Given the description of an element on the screen output the (x, y) to click on. 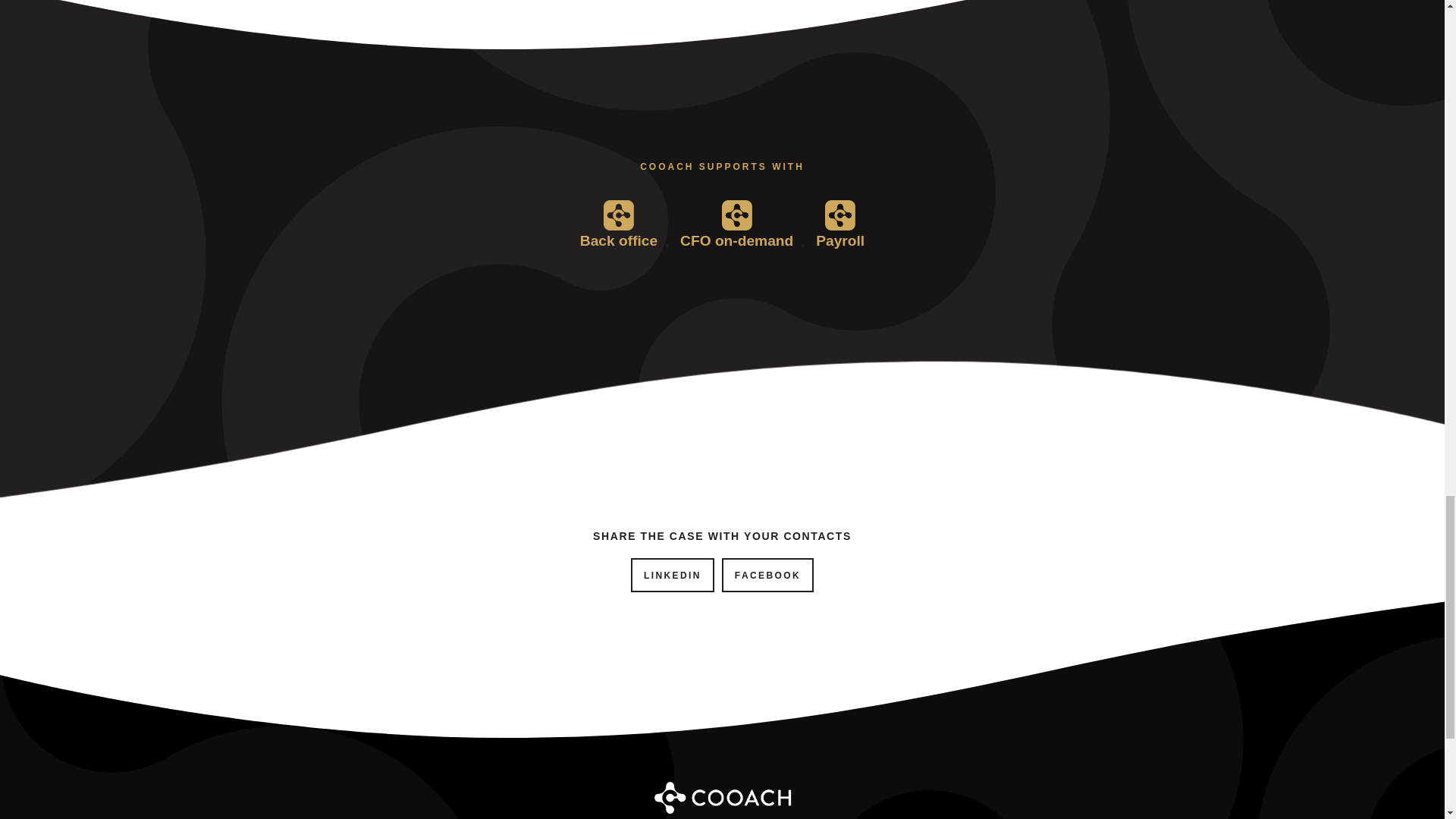
Back office (618, 230)
Payroll (840, 230)
CFO on-demand (735, 230)
